Given the description of an element on the screen output the (x, y) to click on. 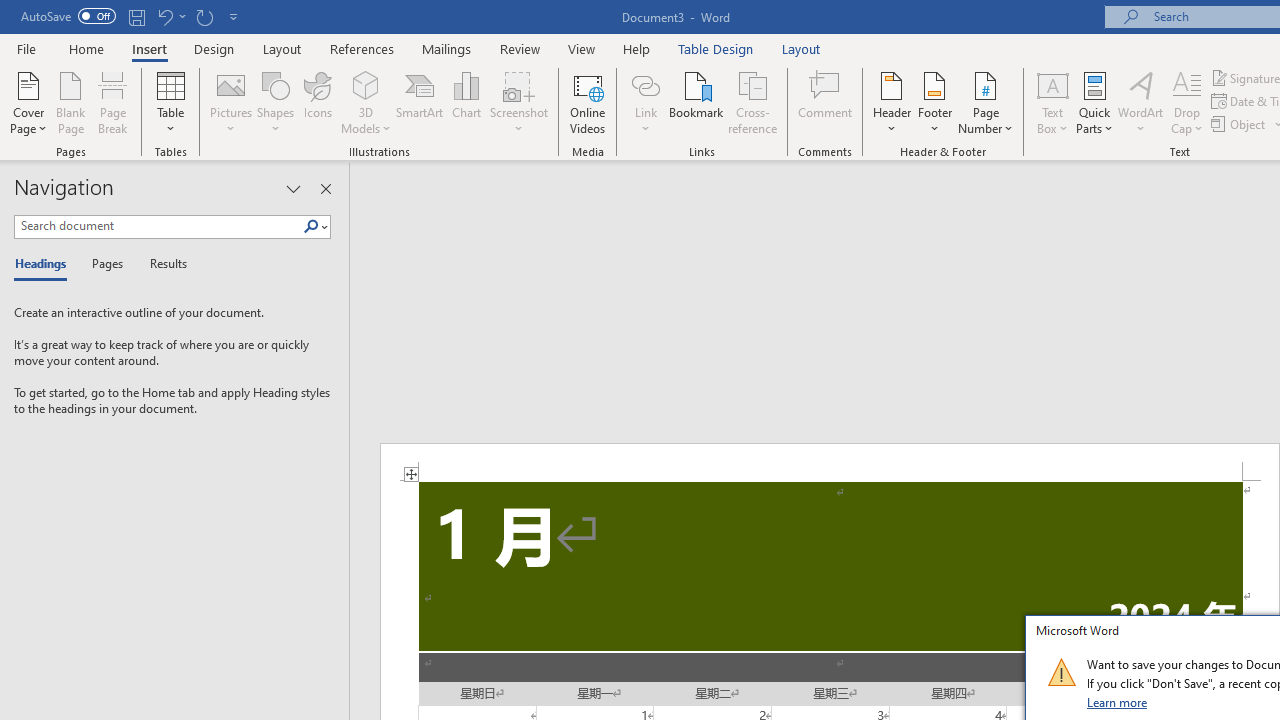
Bookmark... (695, 102)
Pictures (230, 102)
Link (645, 102)
Footer (934, 102)
Screenshot (518, 102)
3D Models (366, 102)
Drop Cap (1187, 102)
WordArt (1141, 102)
